Given the description of an element on the screen output the (x, y) to click on. 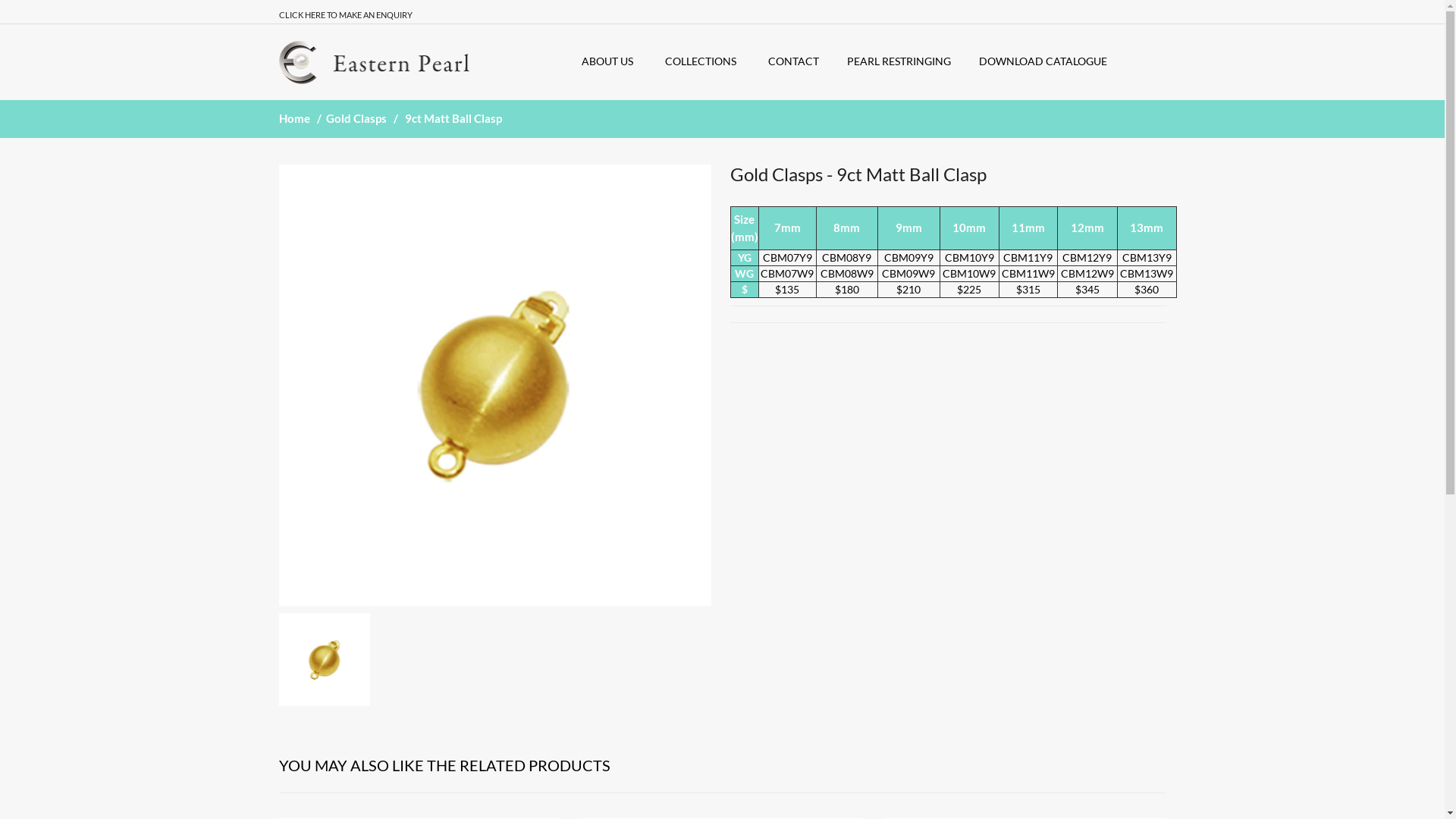
PEARL RESTRINGING Element type: text (901, 61)
CONTACT Element type: text (796, 61)
HERE Element type: text (314, 14)
Home Element type: text (295, 118)
COLLECTIONS Element type: text (705, 61)
DOWNLOAD CATALOGUE Element type: text (1045, 61)
ABOUT US Element type: text (611, 61)
Gold Clasps Element type: text (357, 118)
Eastern Pearl Element type: hover (374, 62)
